Given the description of an element on the screen output the (x, y) to click on. 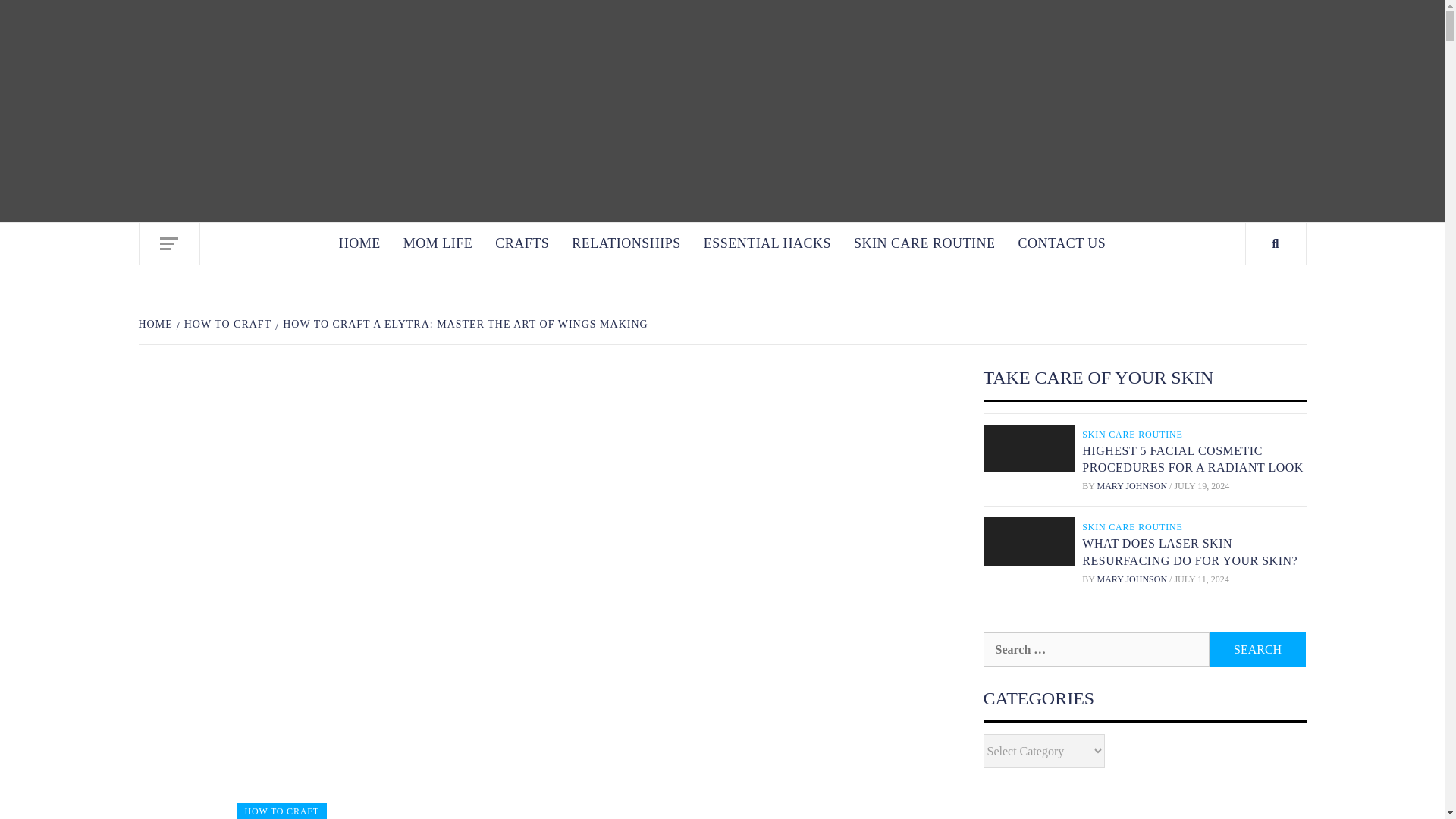
WHAT DOES LASER SKIN RESURFACING DO FOR YOUR SKIN? (1189, 551)
CRAFTS (521, 243)
Search (1257, 649)
Search (1257, 649)
MARY JOHNSON (1133, 579)
SKIN CARE ROUTINE (1133, 526)
SKIN CARE ROUTINE (925, 243)
HOW TO CRAFT A ELYTRA: MASTER THE ART OF WINGS MAKING (462, 324)
HOME (157, 324)
HIGHEST 5 FACIAL COSMETIC PROCEDURES FOR A RADIANT LOOK (1192, 459)
HOME (359, 243)
RELATIONSHIPS (626, 243)
ESSENTIAL HACKS (768, 243)
HOW TO CRAFT (280, 811)
SKIN CARE ROUTINE (1133, 433)
